Given the description of an element on the screen output the (x, y) to click on. 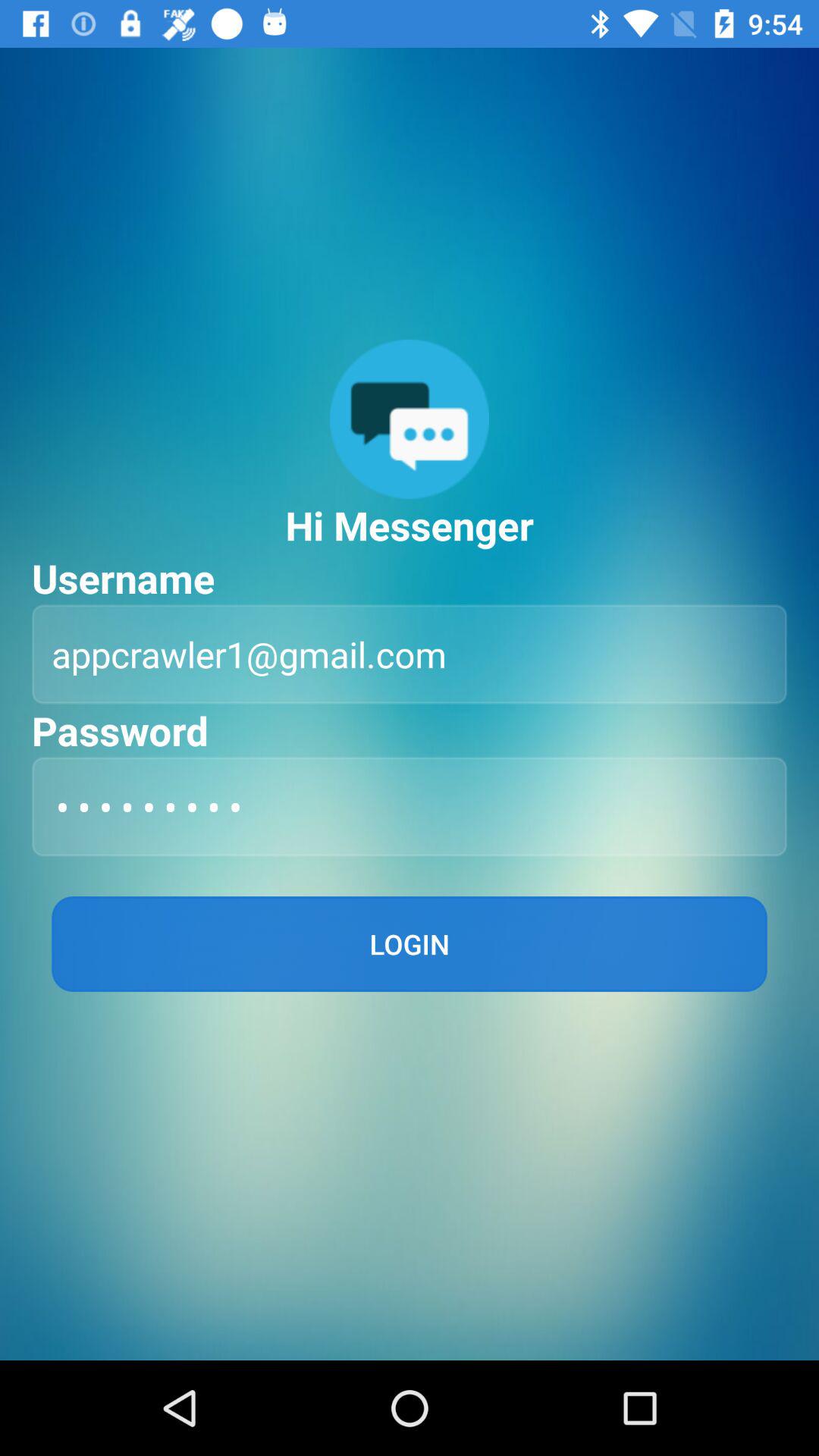
jump to crowd3116 (409, 806)
